Given the description of an element on the screen output the (x, y) to click on. 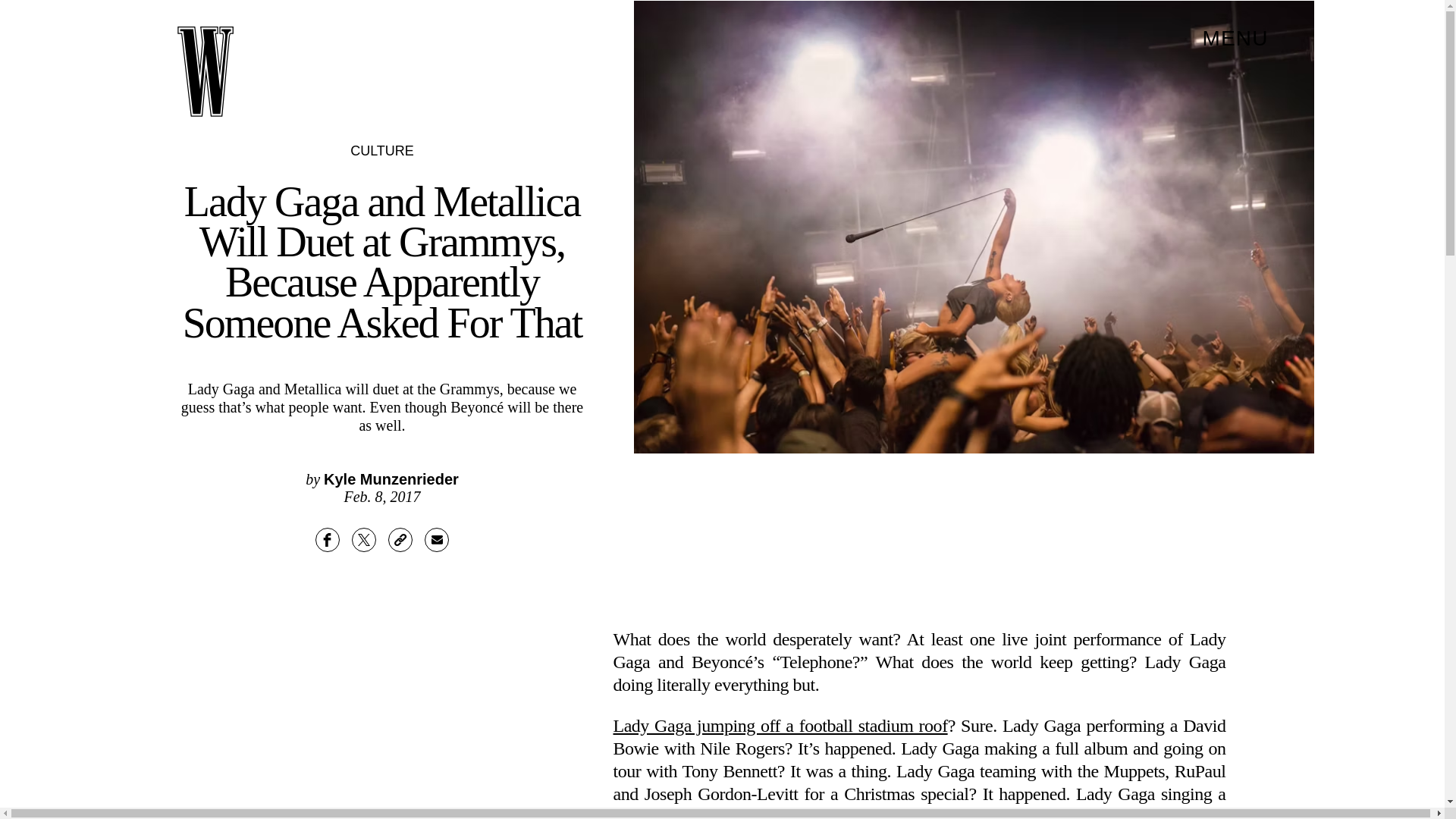
Lady Gaga jumping off a football stadium roof (779, 725)
Post (363, 539)
Copy link (400, 539)
Share (327, 539)
Kyle Munzenrieder (390, 478)
Send via email (436, 539)
